Given the description of an element on the screen output the (x, y) to click on. 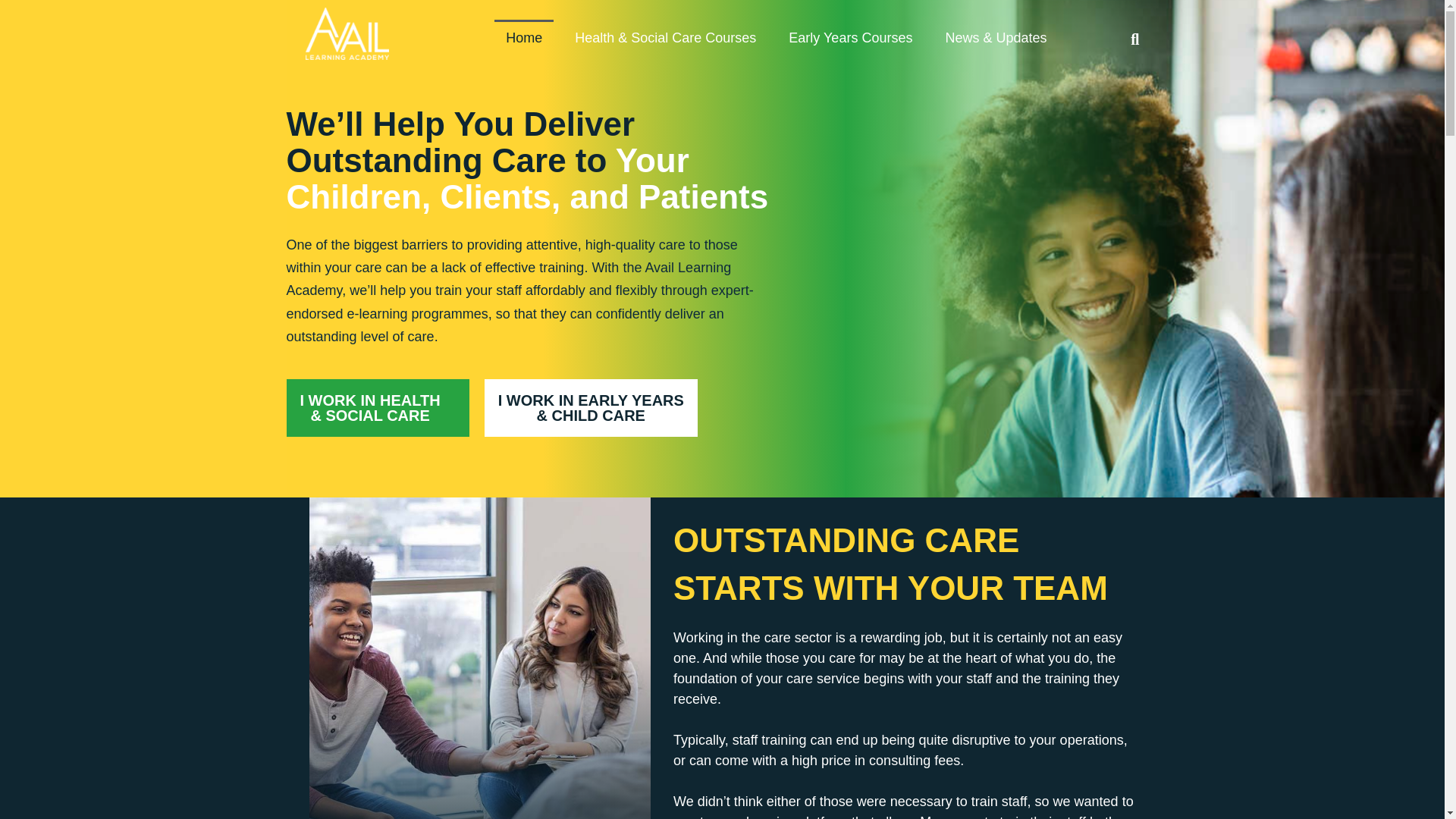
Home (524, 37)
Early Years Courses (850, 37)
white1 (346, 33)
